Given the description of an element on the screen output the (x, y) to click on. 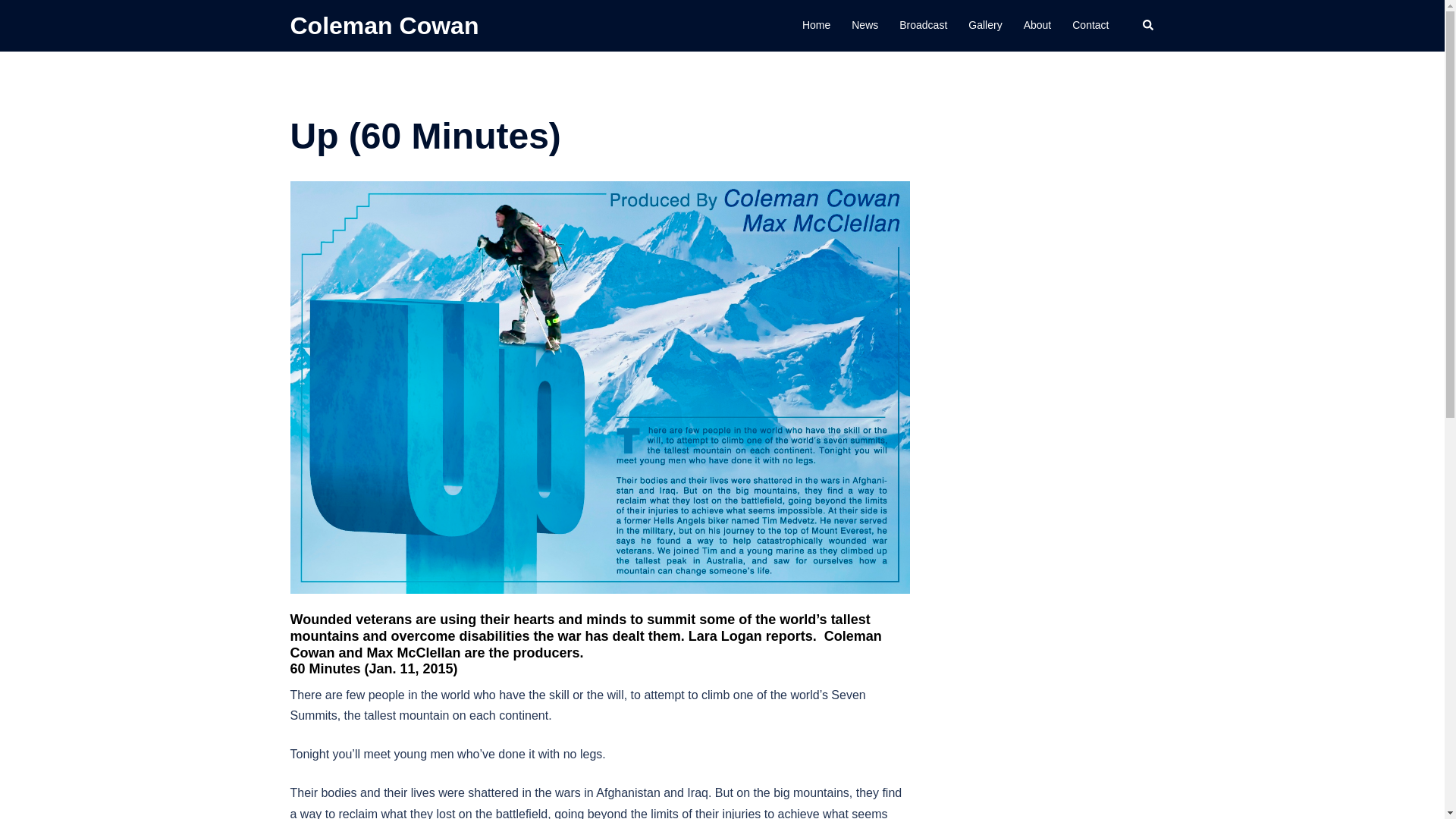
Contact (1089, 25)
Broadcast (923, 25)
About (1037, 25)
Search (47, 18)
News (864, 25)
Home (815, 25)
Coleman Cowan (384, 25)
Search (1147, 25)
Gallery (984, 25)
